Given the description of an element on the screen output the (x, y) to click on. 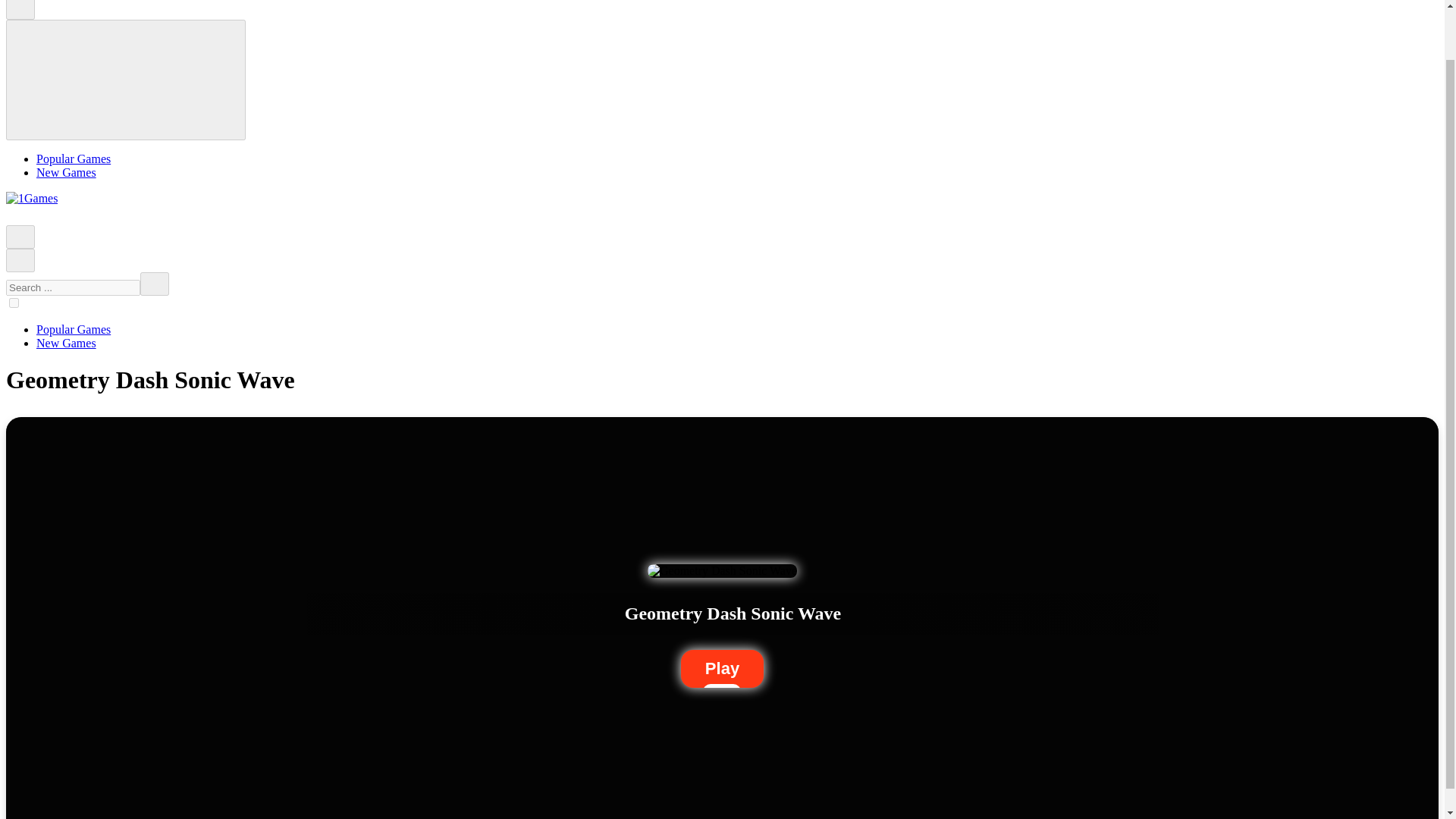
Popular Games (73, 328)
Homepage (14, 217)
New Games (66, 172)
New Games (66, 342)
Popular Games (73, 158)
on (13, 302)
Play (721, 668)
